Given the description of an element on the screen output the (x, y) to click on. 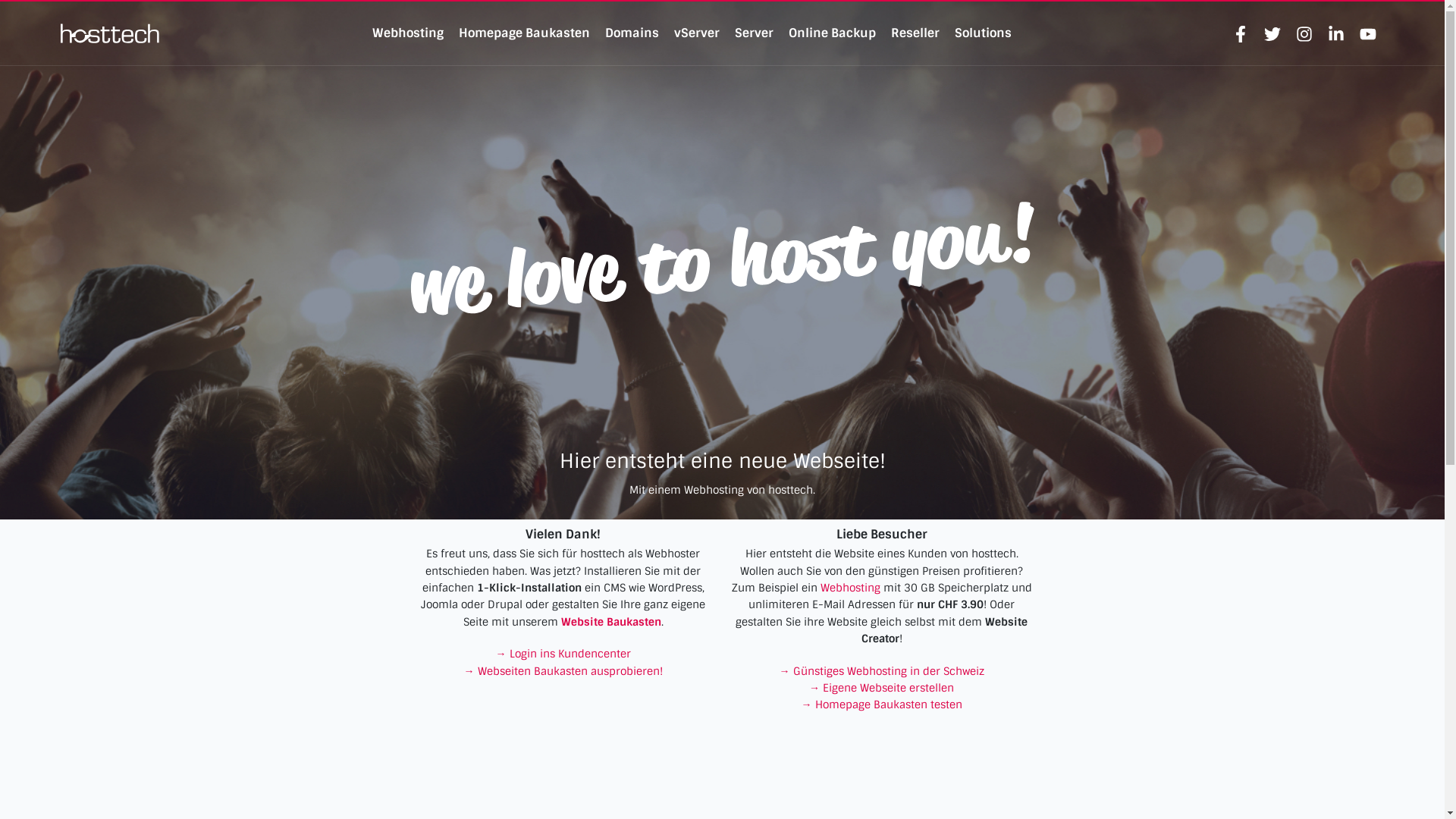
Reseller Element type: text (915, 32)
Website Baukasten Element type: text (611, 621)
Domains Element type: text (631, 32)
Webhosting Element type: text (850, 587)
Solutions Element type: text (982, 32)
Webhosting Element type: text (407, 32)
Server Element type: text (753, 32)
vServer Element type: text (696, 32)
Homepage Baukasten Element type: text (523, 32)
Online Backup Element type: text (831, 32)
